Given the description of an element on the screen output the (x, y) to click on. 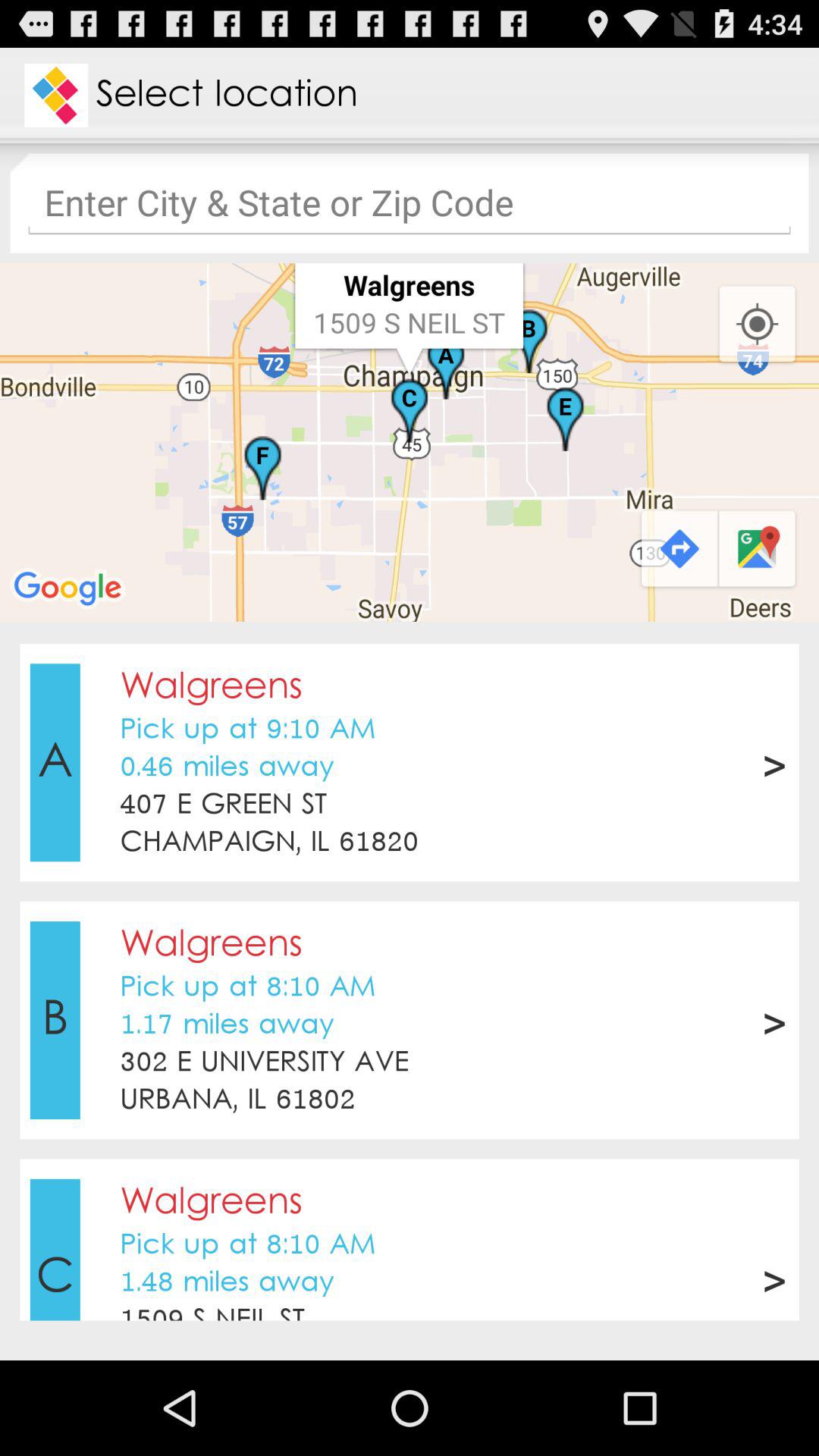
click the icon to the right of a app (226, 767)
